Given the description of an element on the screen output the (x, y) to click on. 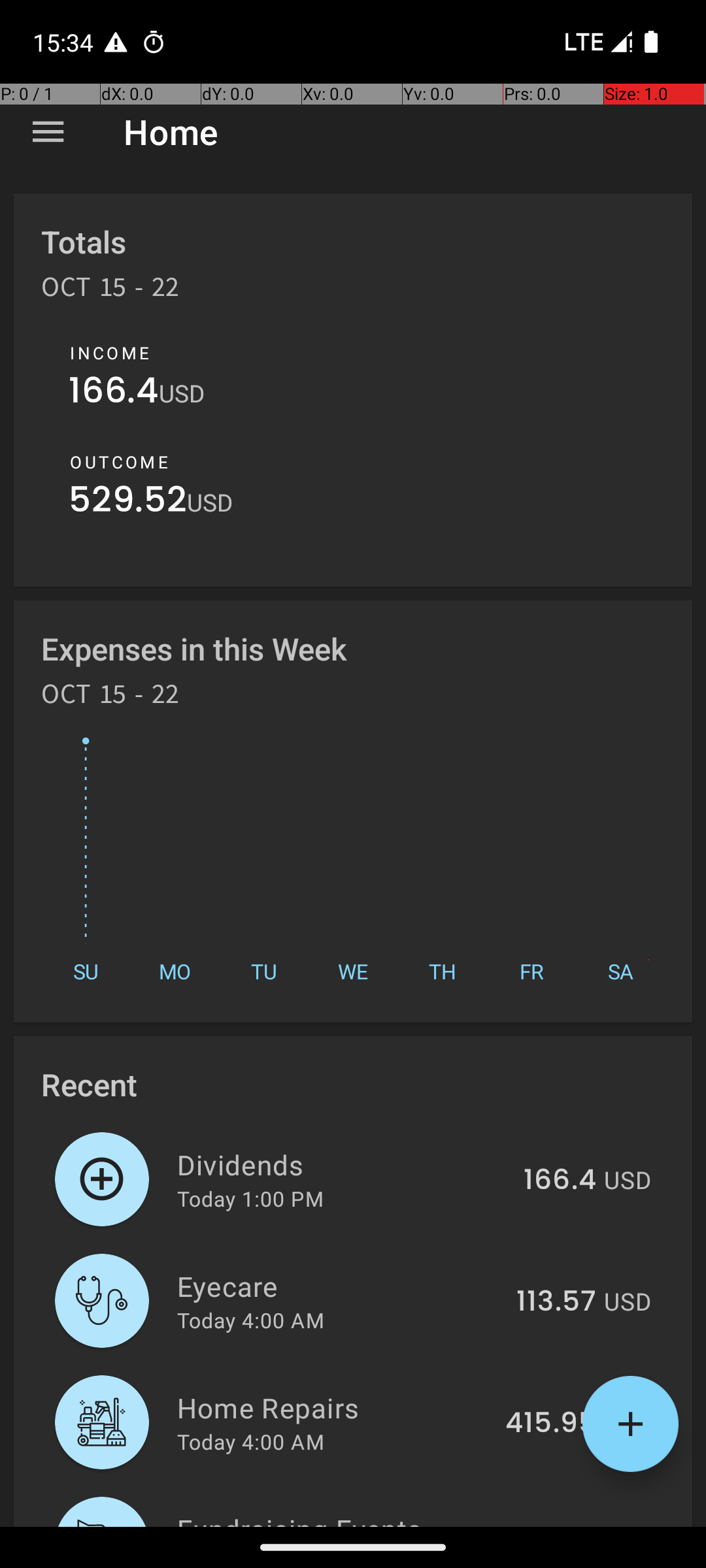
166.4 Element type: android.widget.TextView (113, 393)
529.52 Element type: android.widget.TextView (127, 502)
Dividends Element type: android.widget.TextView (342, 1164)
Today 1:00 PM Element type: android.widget.TextView (250, 1198)
Eyecare Element type: android.widget.TextView (339, 1285)
Today 4:00 AM Element type: android.widget.TextView (250, 1320)
113.57 Element type: android.widget.TextView (555, 1301)
Home Repairs Element type: android.widget.TextView (333, 1407)
415.95 Element type: android.widget.TextView (550, 1423)
Fundraising Events Element type: android.widget.TextView (335, 1518)
479.12 Element type: android.widget.TextView (552, 1524)
